Given the description of an element on the screen output the (x, y) to click on. 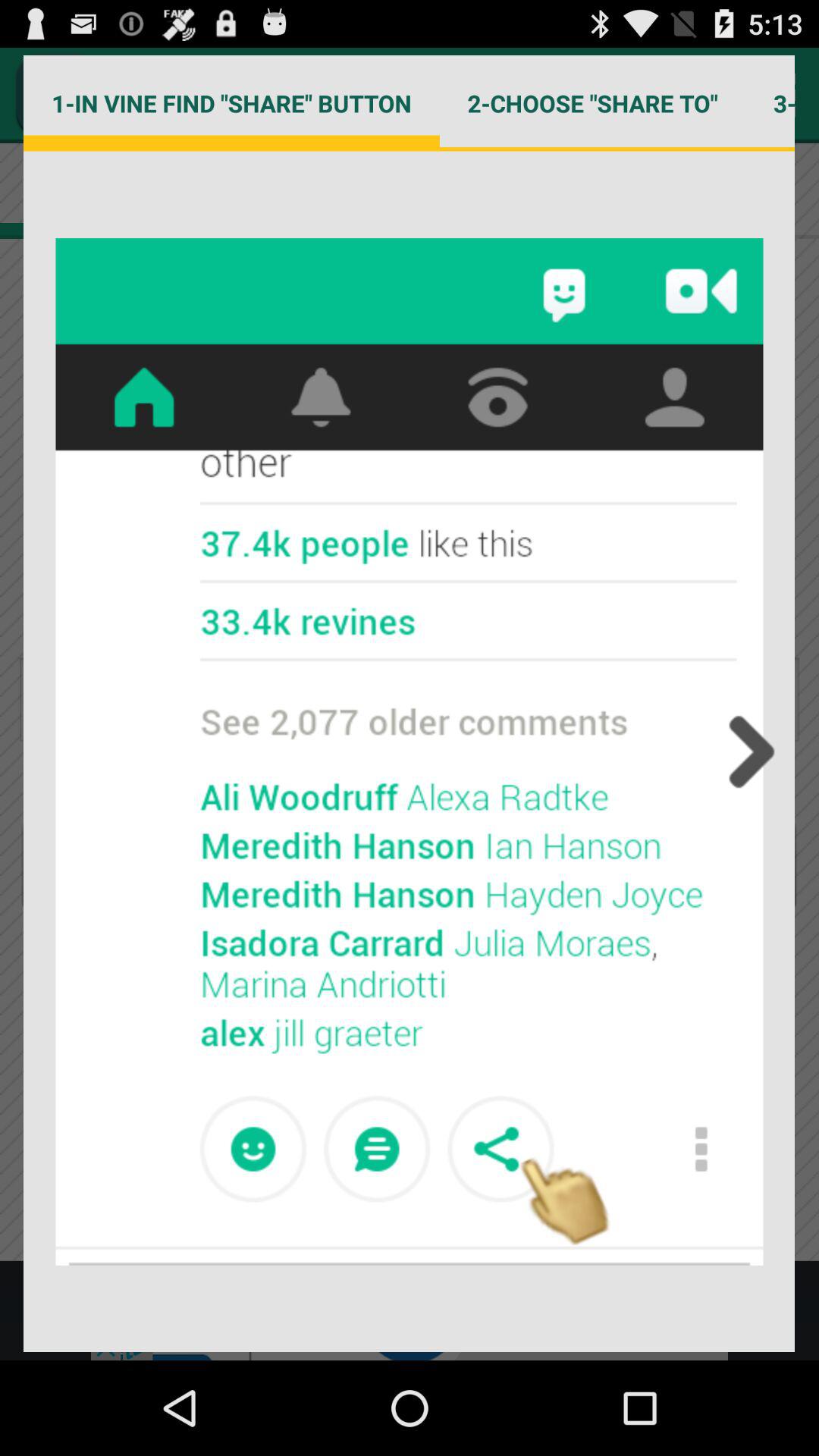
tap item at the top left corner (231, 103)
